Given the description of an element on the screen output the (x, y) to click on. 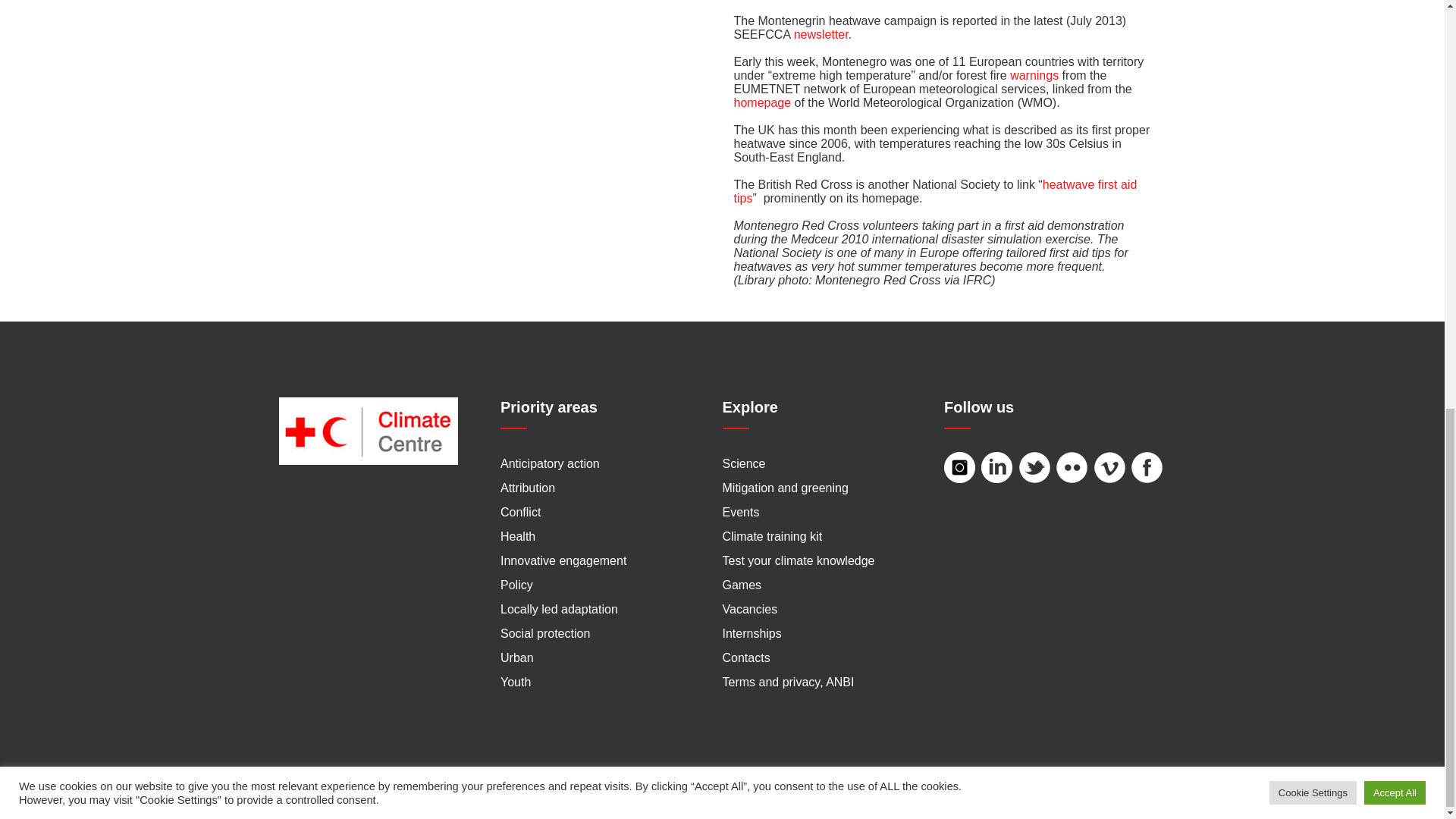
Urban (517, 657)
newsletter (820, 33)
Social protection (544, 633)
heatwave first aid tips (935, 191)
Science (743, 463)
homepage (762, 102)
Youth (515, 681)
Locally led adaptation (558, 608)
warnings (1034, 74)
Conflict (520, 512)
